Given the description of an element on the screen output the (x, y) to click on. 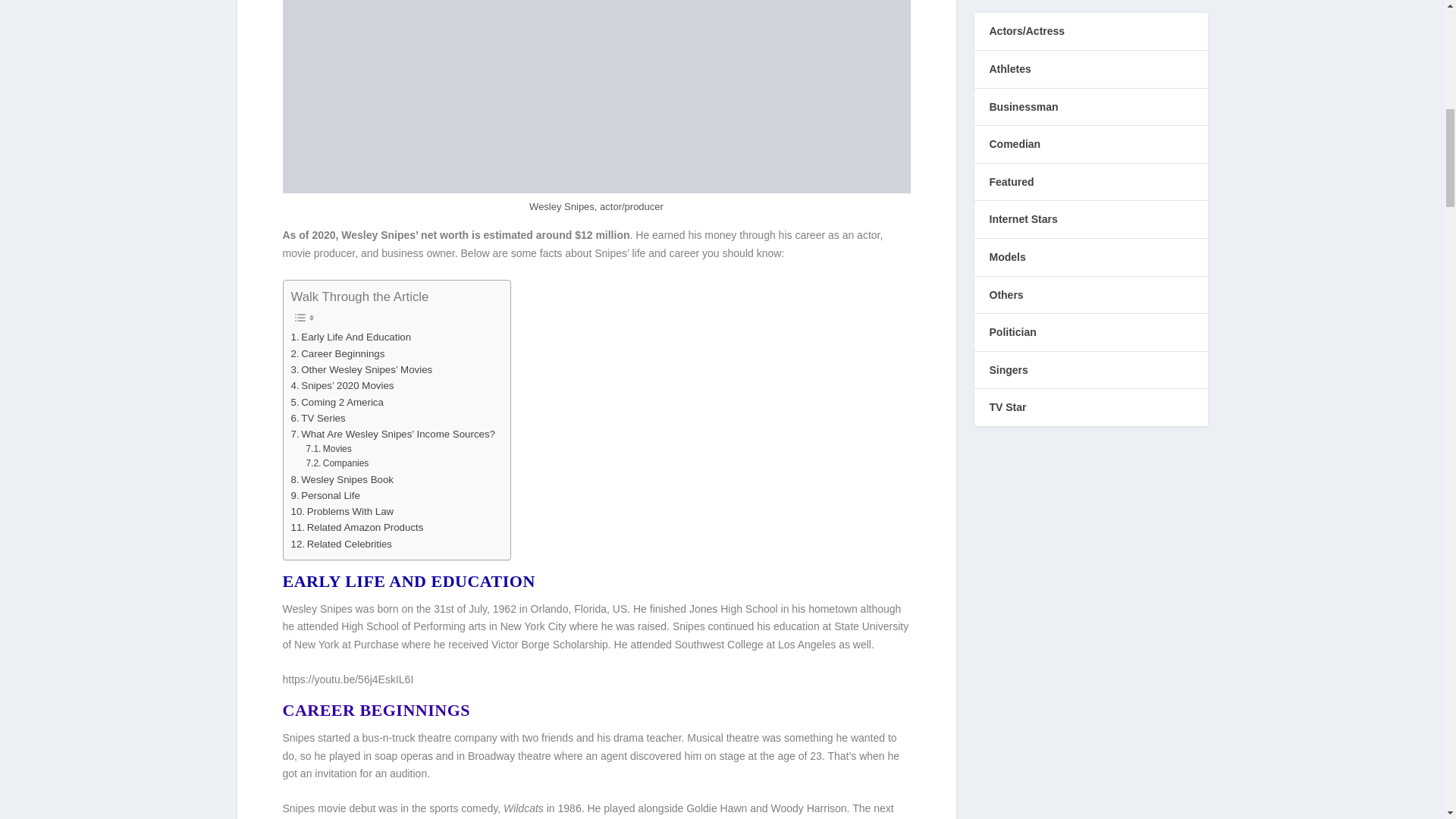
Companies (336, 463)
Related Amazon Products (357, 527)
Companies (336, 463)
Movies (327, 449)
Early Life And Education (351, 336)
Personal Life (325, 495)
Problems With Law (342, 511)
Related Celebrities (342, 544)
Career Beginnings (338, 353)
TV Series (318, 417)
